Given the description of an element on the screen output the (x, y) to click on. 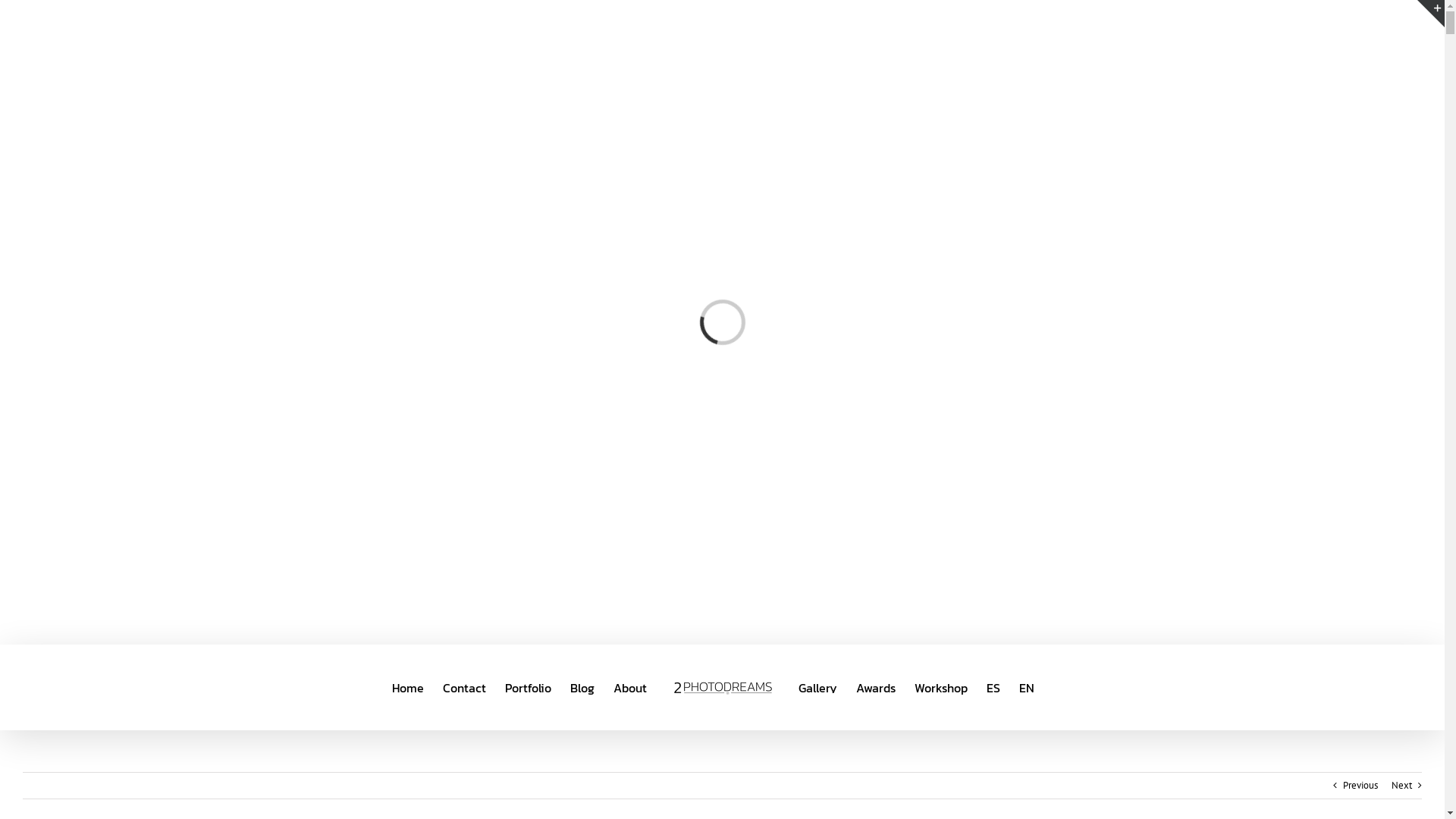
Workshop Element type: text (940, 687)
Gallery Element type: text (816, 687)
Toggle Sliding Bar Area Element type: text (1430, 13)
About Element type: text (629, 687)
Portfolio Element type: text (528, 687)
EN Element type: text (1026, 687)
Previous Element type: text (1360, 785)
Next Element type: text (1401, 785)
Contact Element type: text (464, 687)
Awards Element type: text (874, 687)
ES Element type: text (992, 687)
Blog Element type: text (582, 687)
Home Element type: text (407, 687)
